Given the description of an element on the screen output the (x, y) to click on. 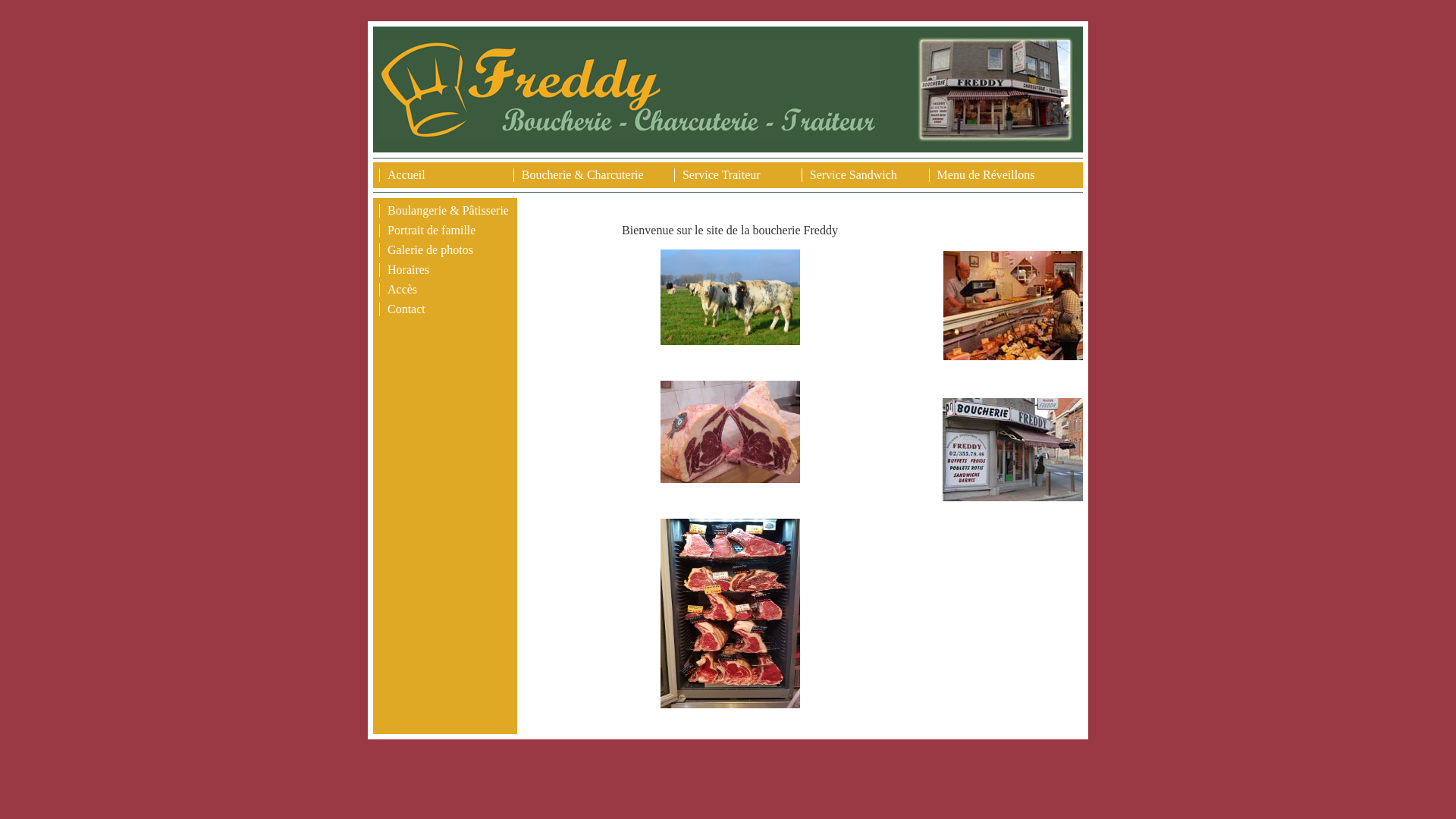
Contact Element type: text (406, 308)
Galerie de photos Element type: text (430, 249)
Service Sandwich Element type: text (853, 174)
Horaires Element type: text (408, 269)
Portrait de famille Element type: text (431, 229)
Accueil Element type: text (406, 174)
Service Traiteur Element type: text (721, 174)
Boucherie & Charcuterie Element type: text (582, 174)
